Given the description of an element on the screen output the (x, y) to click on. 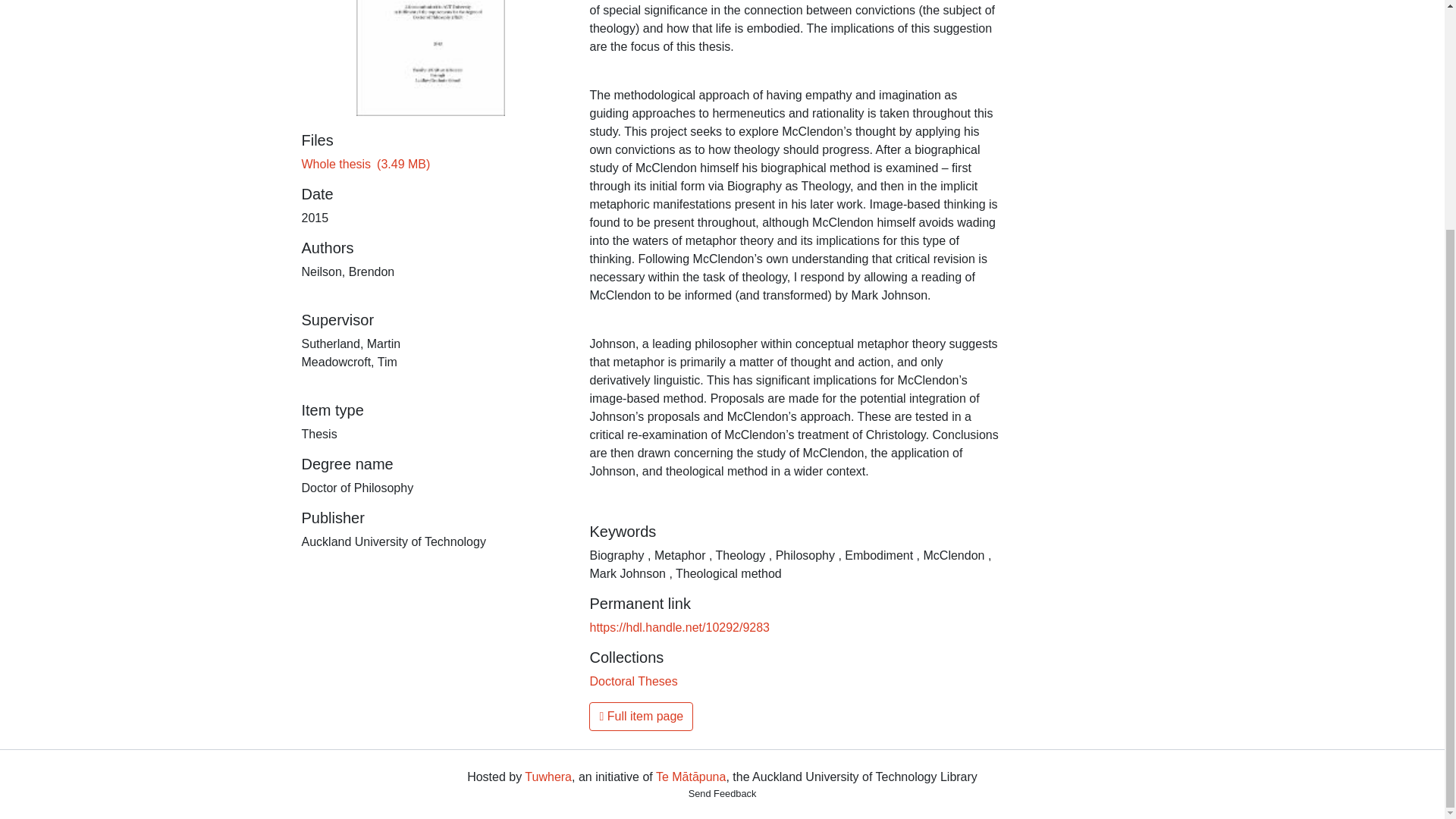
Send Feedback (722, 793)
Tuwhera (548, 776)
Doctoral Theses (633, 680)
Full item page (641, 716)
